Given the description of an element on the screen output the (x, y) to click on. 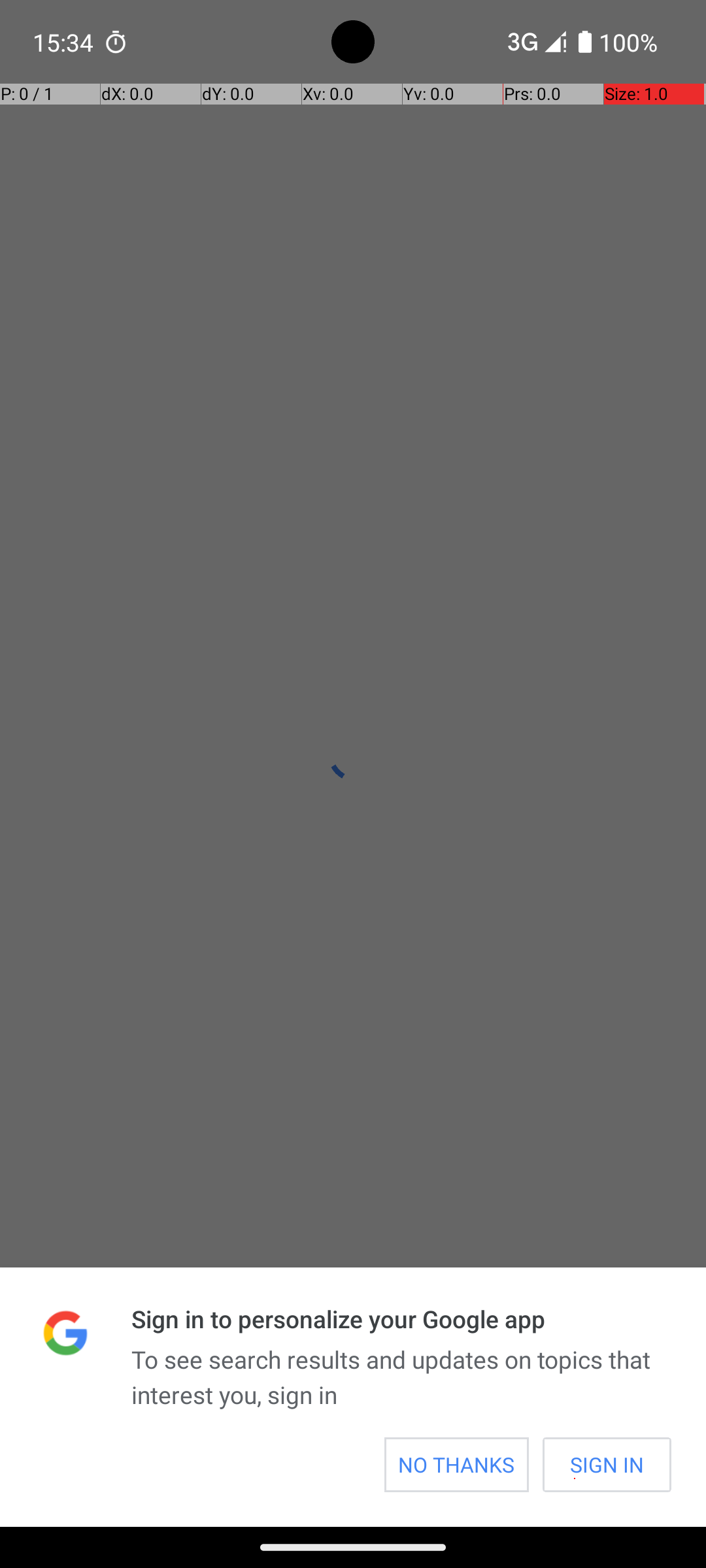
Sign in to personalize your Google app Element type: android.widget.TextView (401, 1318)
To see search results and updates on topics that interest you, sign in Element type: android.widget.TextView (401, 1376)
NO THANKS Element type: android.widget.TextView (456, 1464)
SIGN IN Element type: android.widget.TextView (606, 1464)
